Given the description of an element on the screen output the (x, y) to click on. 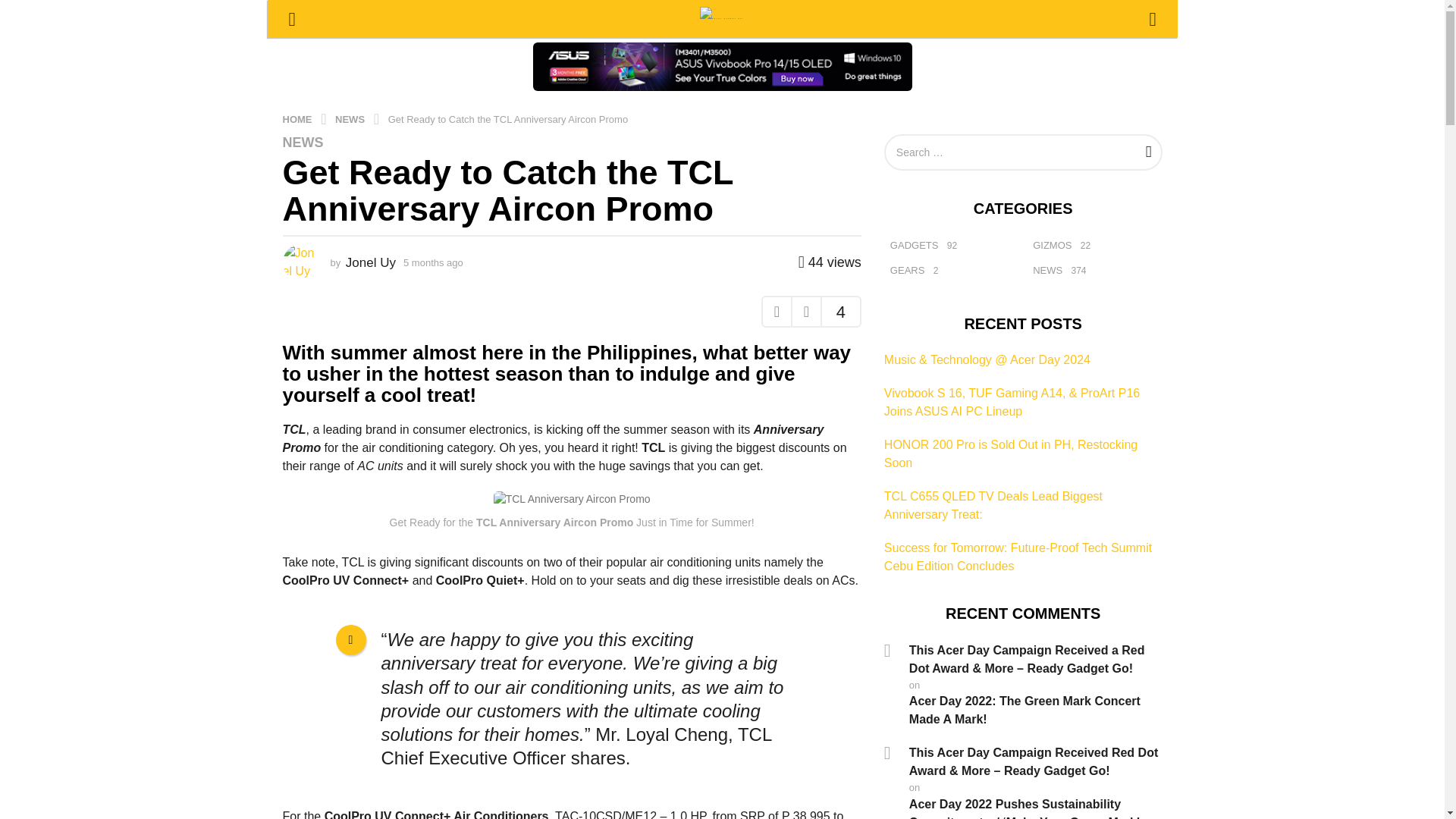
NEWS (351, 118)
TCL Anniversary Aircon Promo (571, 498)
HOME (298, 118)
NEWS (302, 142)
Jonel Uy (371, 262)
Get Ready to Catch the TCL Anniversary Aircon Promo (507, 118)
